Given the description of an element on the screen output the (x, y) to click on. 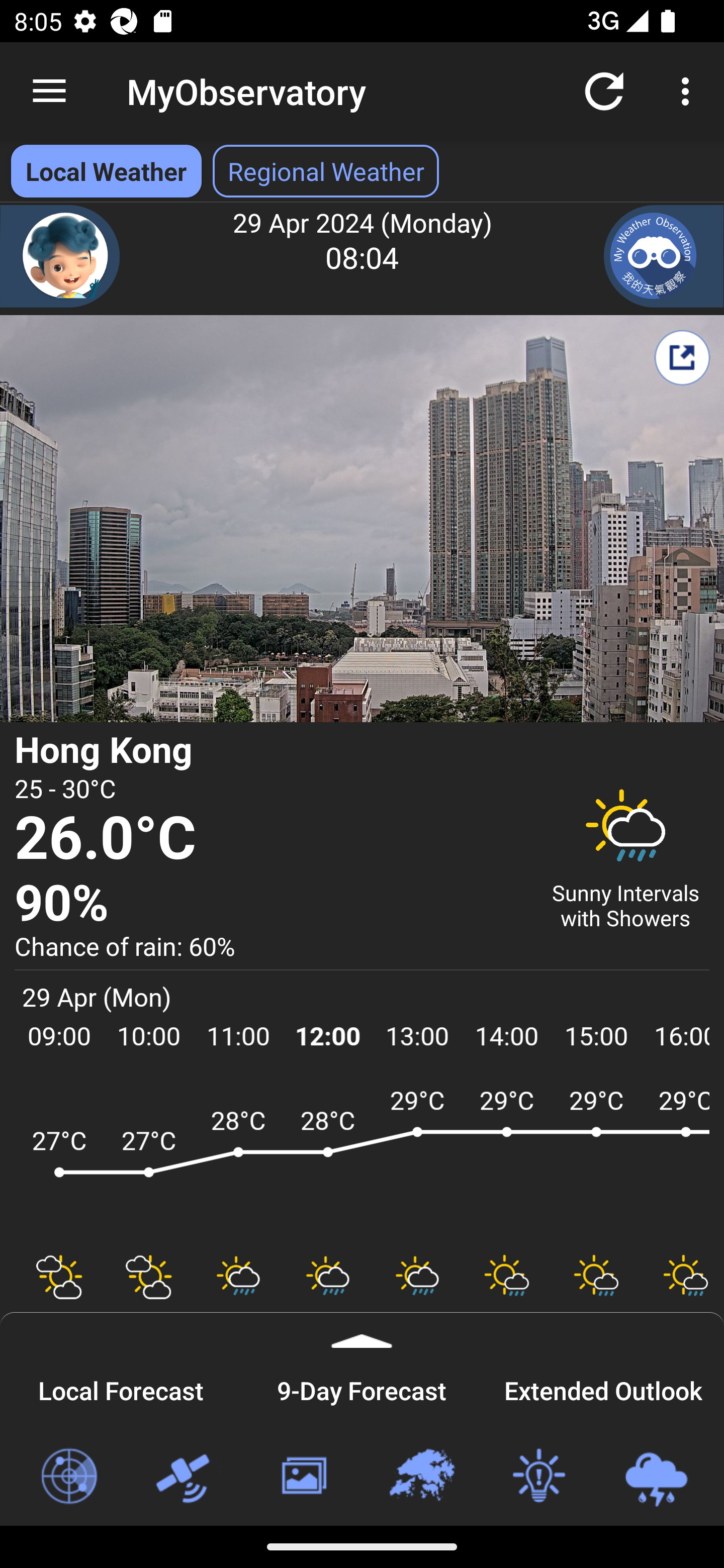
Navigate up (49, 91)
Refresh (604, 90)
More options (688, 90)
Local Weather Local Weather selected (105, 170)
Regional Weather Select Regional Weather (325, 170)
Chatbot (60, 256)
My Weather Observation (663, 256)
Share My Weather Report (681, 357)
26.0°C Temperature
26.0 degree Celsius (270, 839)
90% Relative Humidity
90 percent (270, 903)
ARWF (361, 1160)
Expand (362, 1330)
Local Forecast (120, 1387)
Extended Outlook (603, 1387)
Radar Images (68, 1476)
Satellite Images (185, 1476)
Weather Photos (302, 1476)
Regional Weather (420, 1476)
Weather Tips (537, 1476)
Loc-based Rain & Lightning Forecast (655, 1476)
